Given the description of an element on the screen output the (x, y) to click on. 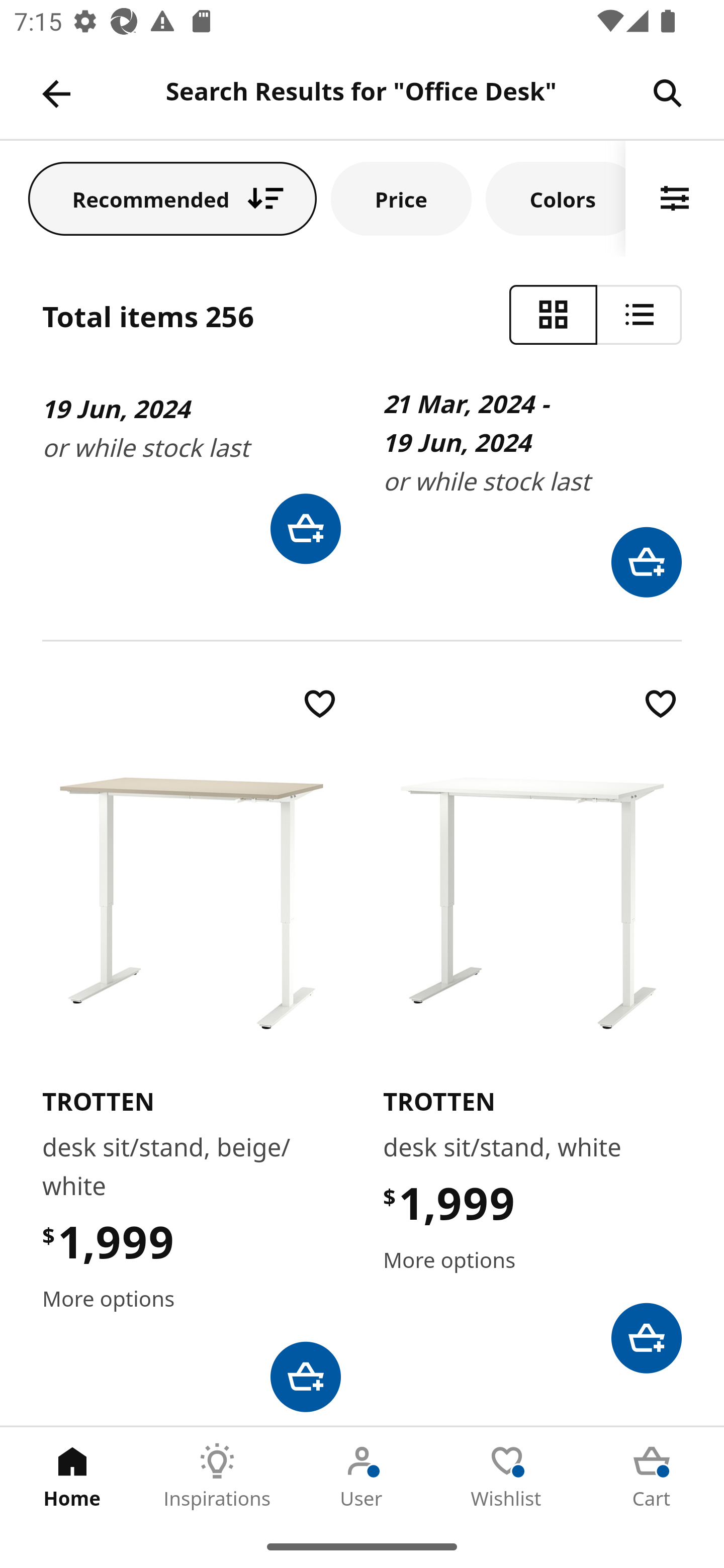
Recommended (172, 198)
Price (400, 198)
Colors (555, 198)
Home
Tab 1 of 5 (72, 1476)
Inspirations
Tab 2 of 5 (216, 1476)
User
Tab 3 of 5 (361, 1476)
Wishlist
Tab 4 of 5 (506, 1476)
Cart
Tab 5 of 5 (651, 1476)
